Given the description of an element on the screen output the (x, y) to click on. 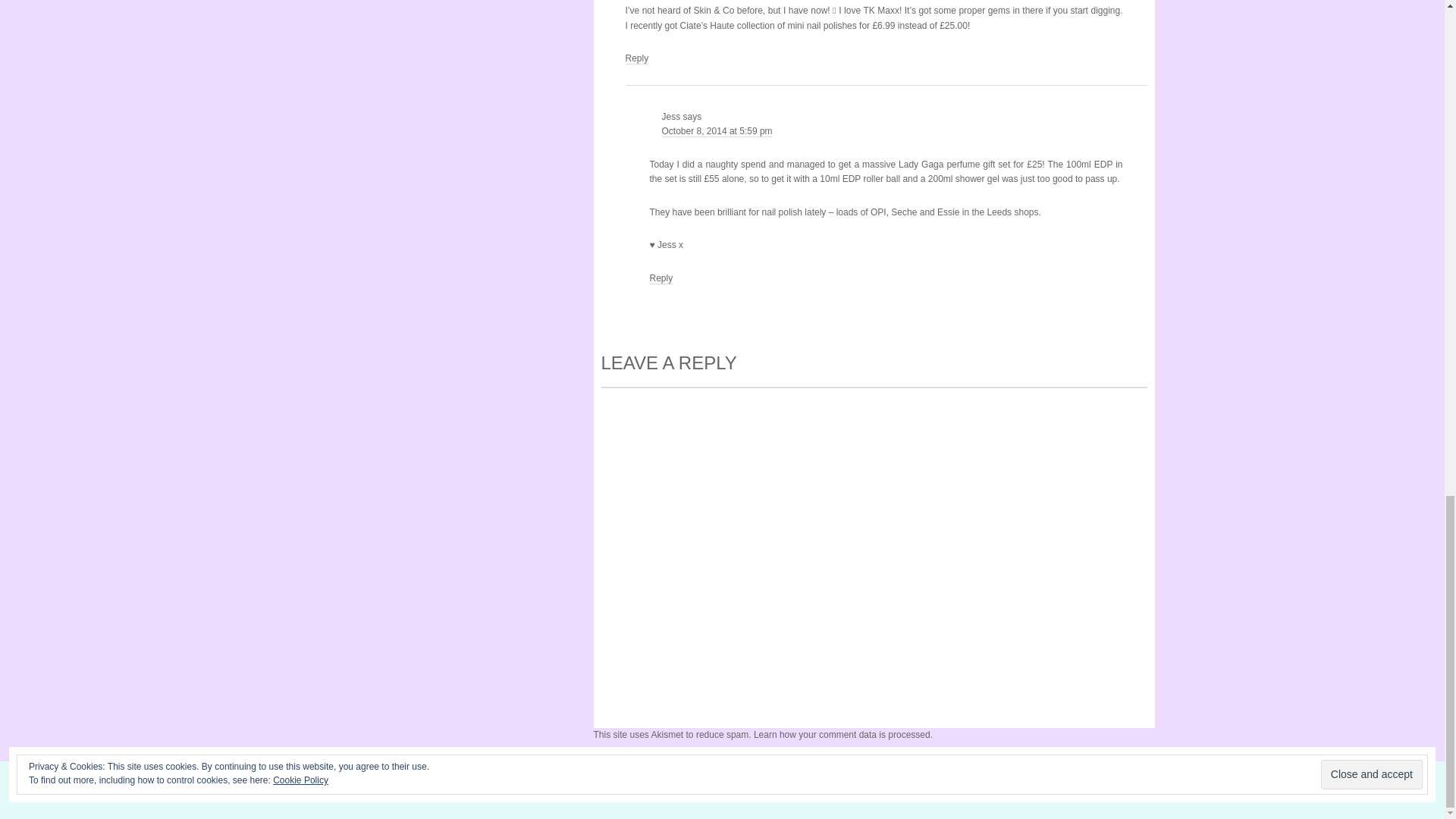
October 8, 2014 at 5:59 pm (716, 131)
Reply (660, 278)
Reply (635, 58)
Learn how your comment data is processed (842, 734)
